Given the description of an element on the screen output the (x, y) to click on. 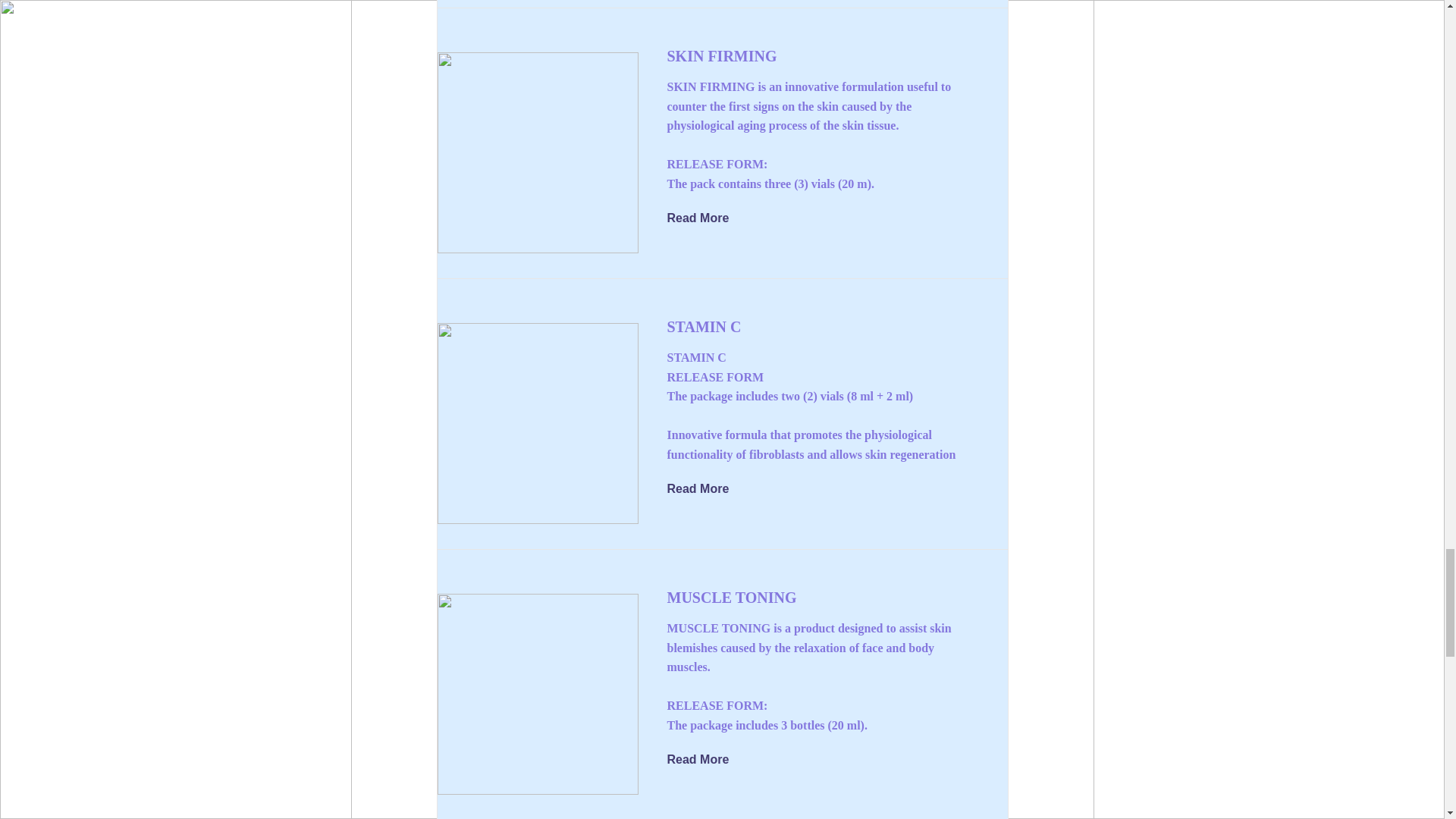
muscle-toning-1.png (536, 693)
Read More (707, 489)
Read More (707, 760)
Read More (707, 219)
